Given the description of an element on the screen output the (x, y) to click on. 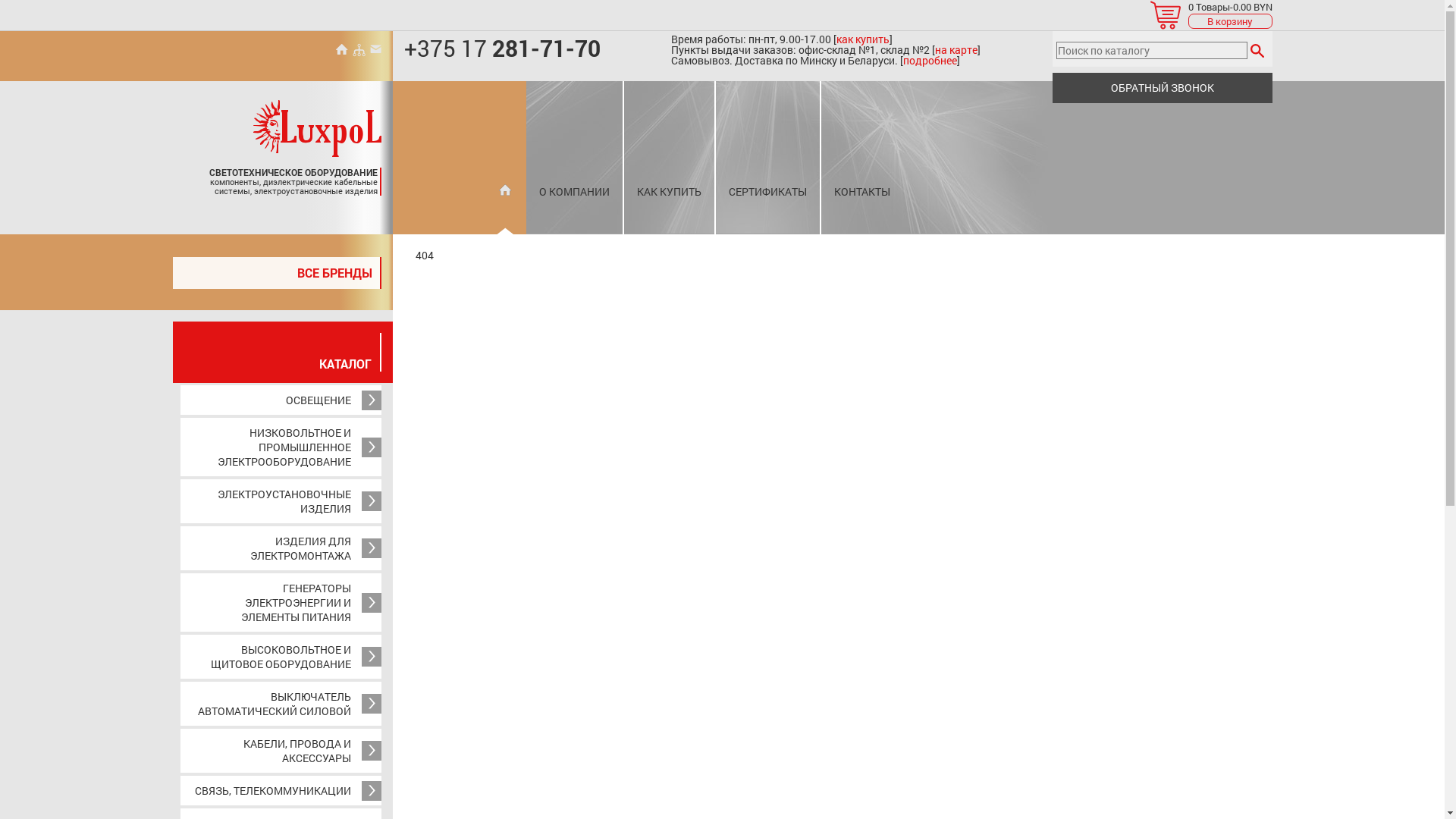
  Element type: text (1256, 50)
